Given the description of an element on the screen output the (x, y) to click on. 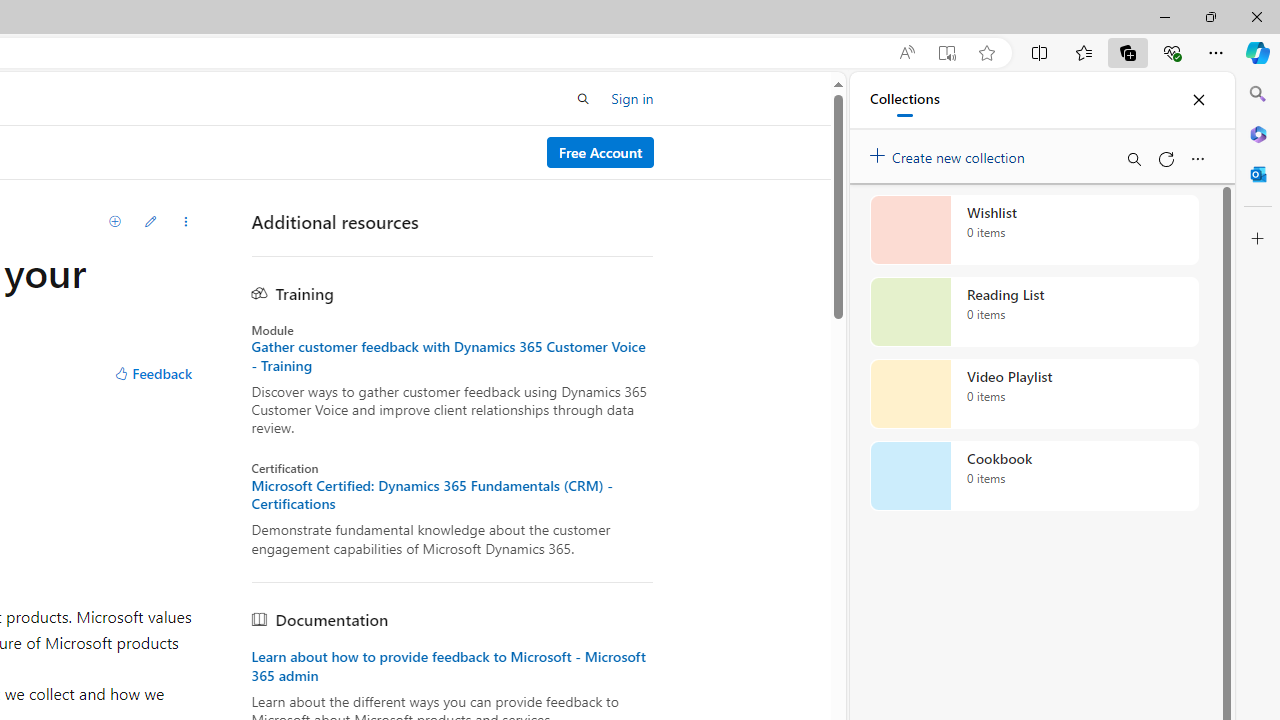
Restore (1210, 16)
Sign in (632, 98)
Microsoft 365 (1258, 133)
Video Playlist collection, 0 items (1034, 394)
Collections (904, 99)
Open search (583, 97)
More actions (185, 221)
Feedback (152, 373)
Settings and more (Alt+F) (1215, 52)
Customize (1258, 239)
Edit (150, 221)
Browser essentials (1171, 52)
